Given the description of an element on the screen output the (x, y) to click on. 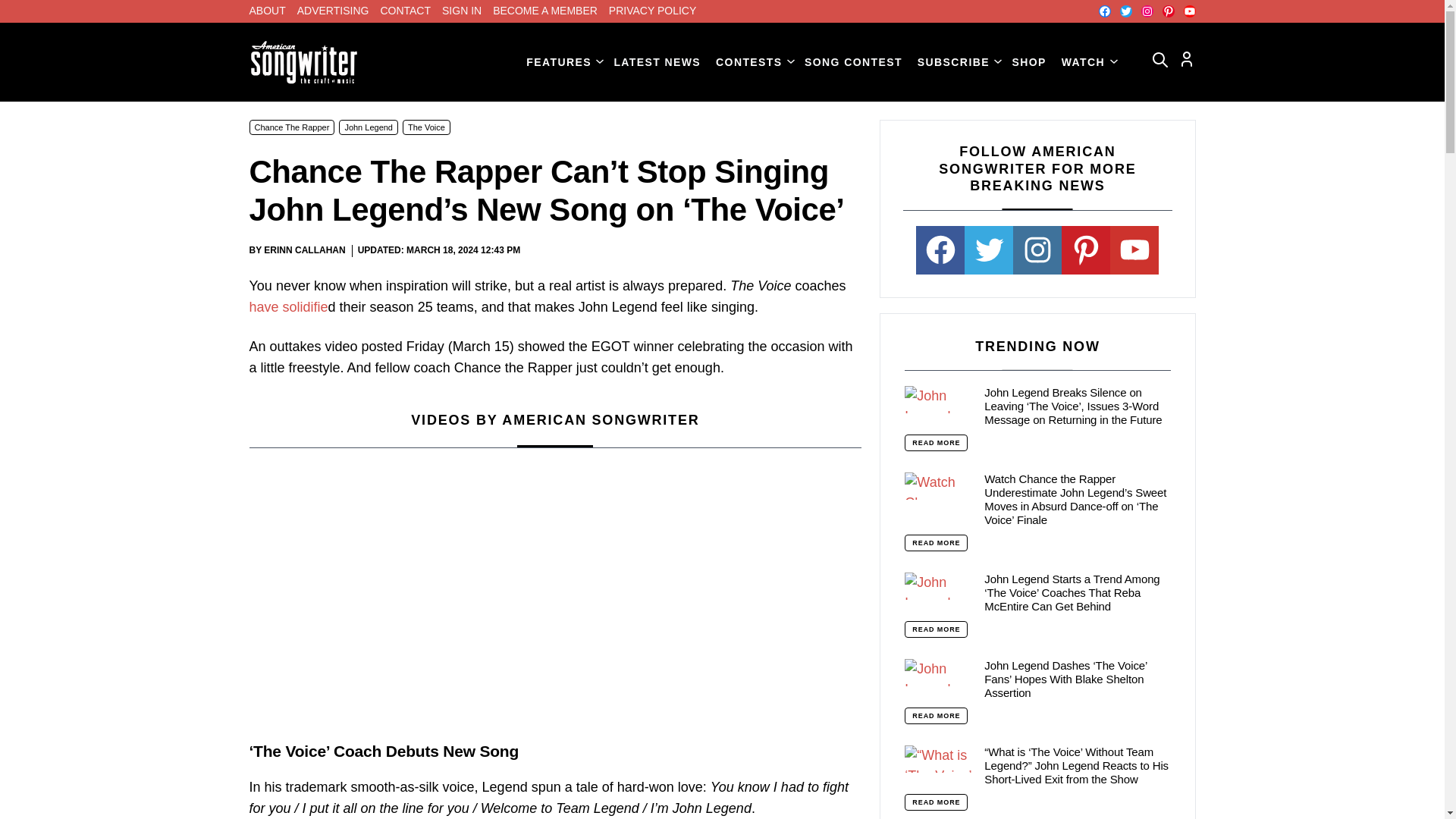
Instagram (1146, 10)
March 18, 2024 12:43 pm (462, 250)
YouTube (1188, 10)
Twitter (1125, 10)
ABOUT (266, 10)
Posts by Erinn Callahan (304, 249)
Pinterest (1167, 10)
Facebook (1103, 10)
CONTACT (405, 10)
BECOME A MEMBER (544, 10)
SIGN IN (461, 10)
PRIVACY POLICY (651, 10)
ADVERTISING (333, 10)
